Given the description of an element on the screen output the (x, y) to click on. 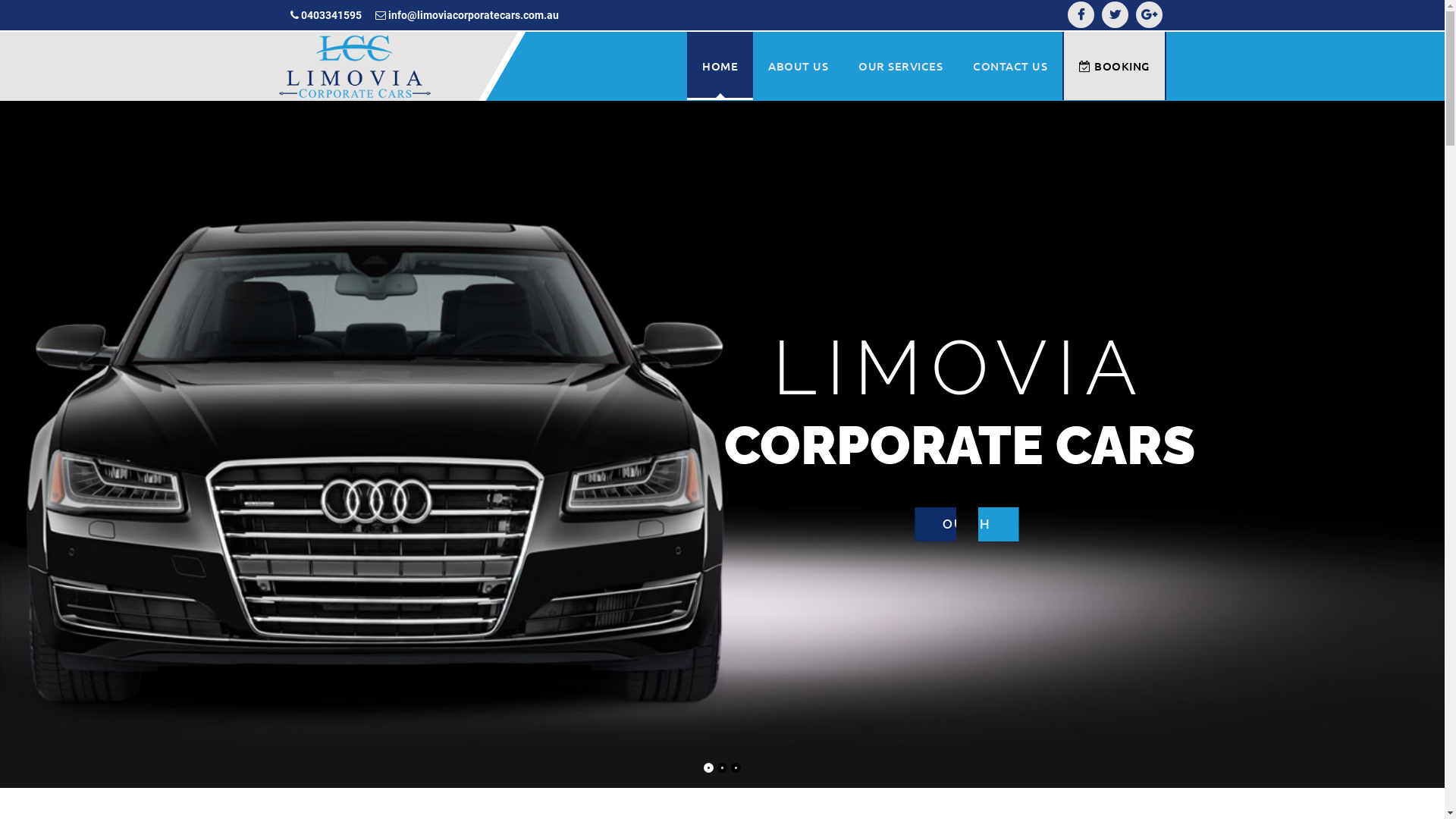
Limovia corporate cars Element type: hover (354, 65)
info@limoviacorporatecars.com.au Element type: text (466, 15)
ABOUT US Element type: text (798, 65)
OUR SERVICES Element type: text (900, 65)
HOME Element type: text (720, 65)
BOOKING Element type: text (1113, 65)
0403341595 Element type: text (324, 15)
Google-plus Element type: hover (1148, 14)
Facebook Element type: hover (1080, 14)
Twitter Element type: hover (1114, 14)
CONTACT US Element type: text (1009, 65)
Limovia corporate cars Element type: hover (354, 65)
